Given the description of an element on the screen output the (x, y) to click on. 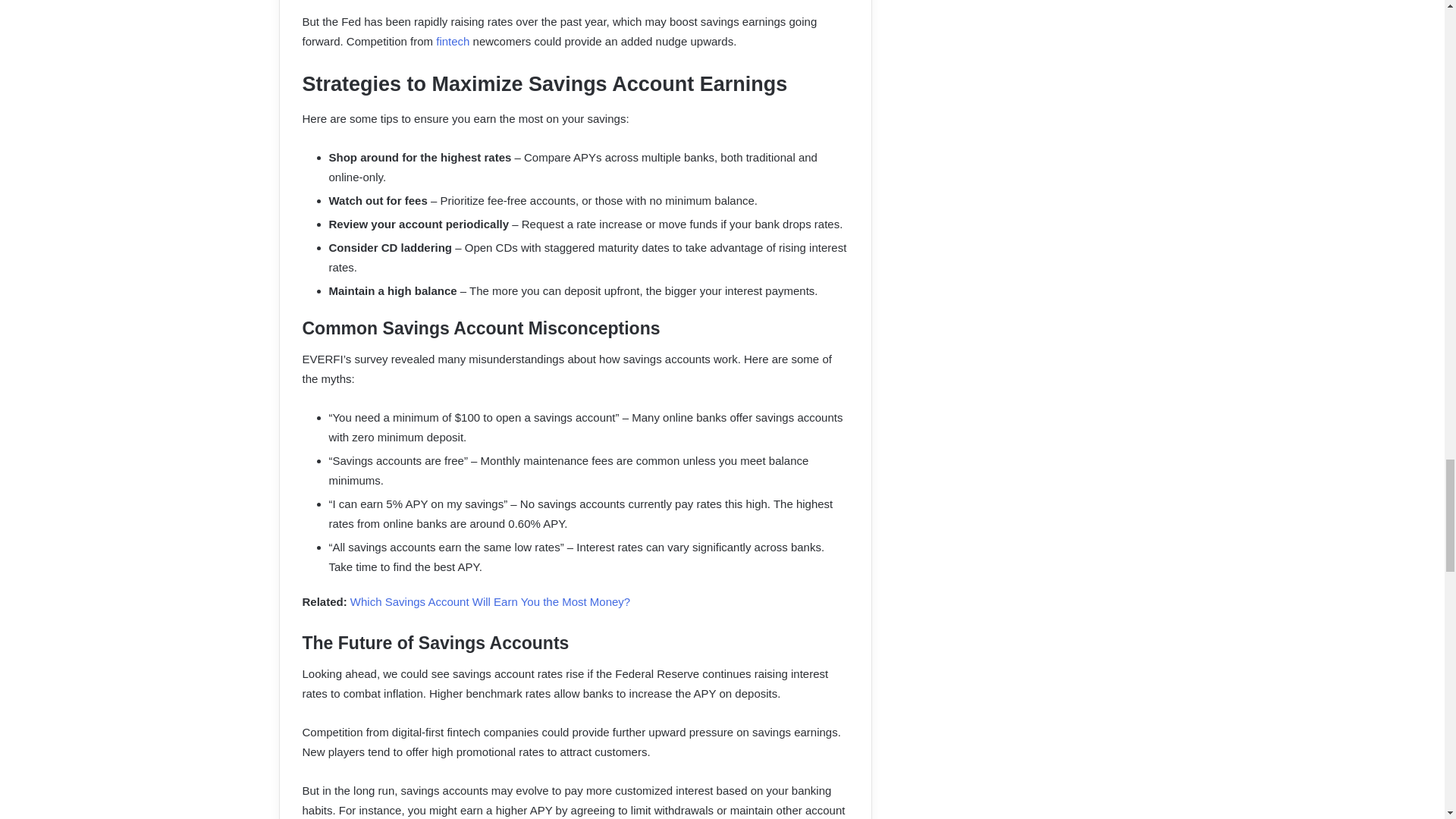
fintech (451, 41)
Which Savings Account Will Earn You the Most Money? (490, 601)
